Given the description of an element on the screen output the (x, y) to click on. 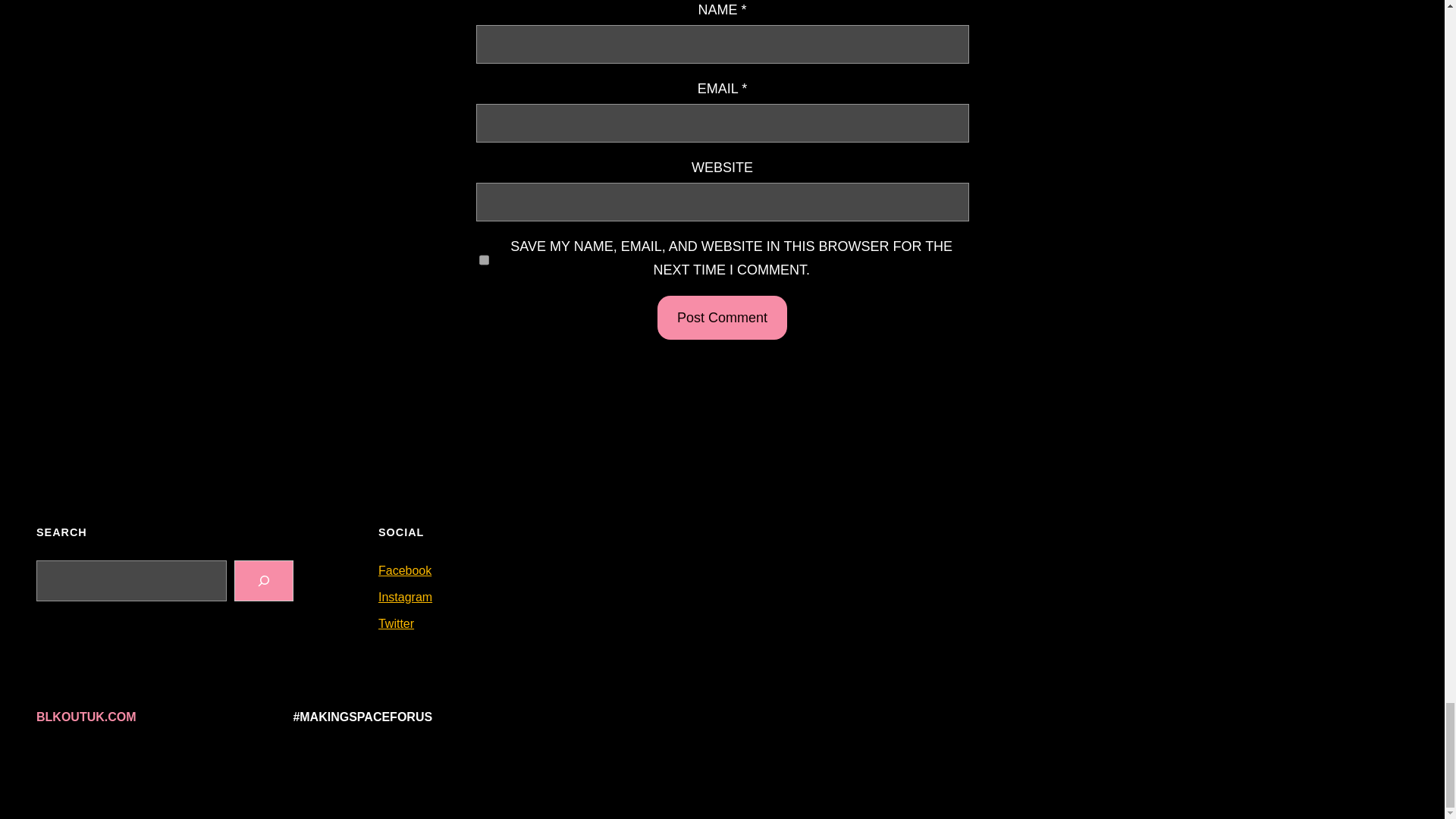
Twitter (395, 623)
Post Comment (722, 317)
Facebook (404, 570)
Instagram (405, 596)
Post Comment (722, 317)
BLKOUTUK.COM (86, 716)
